Given the description of an element on the screen output the (x, y) to click on. 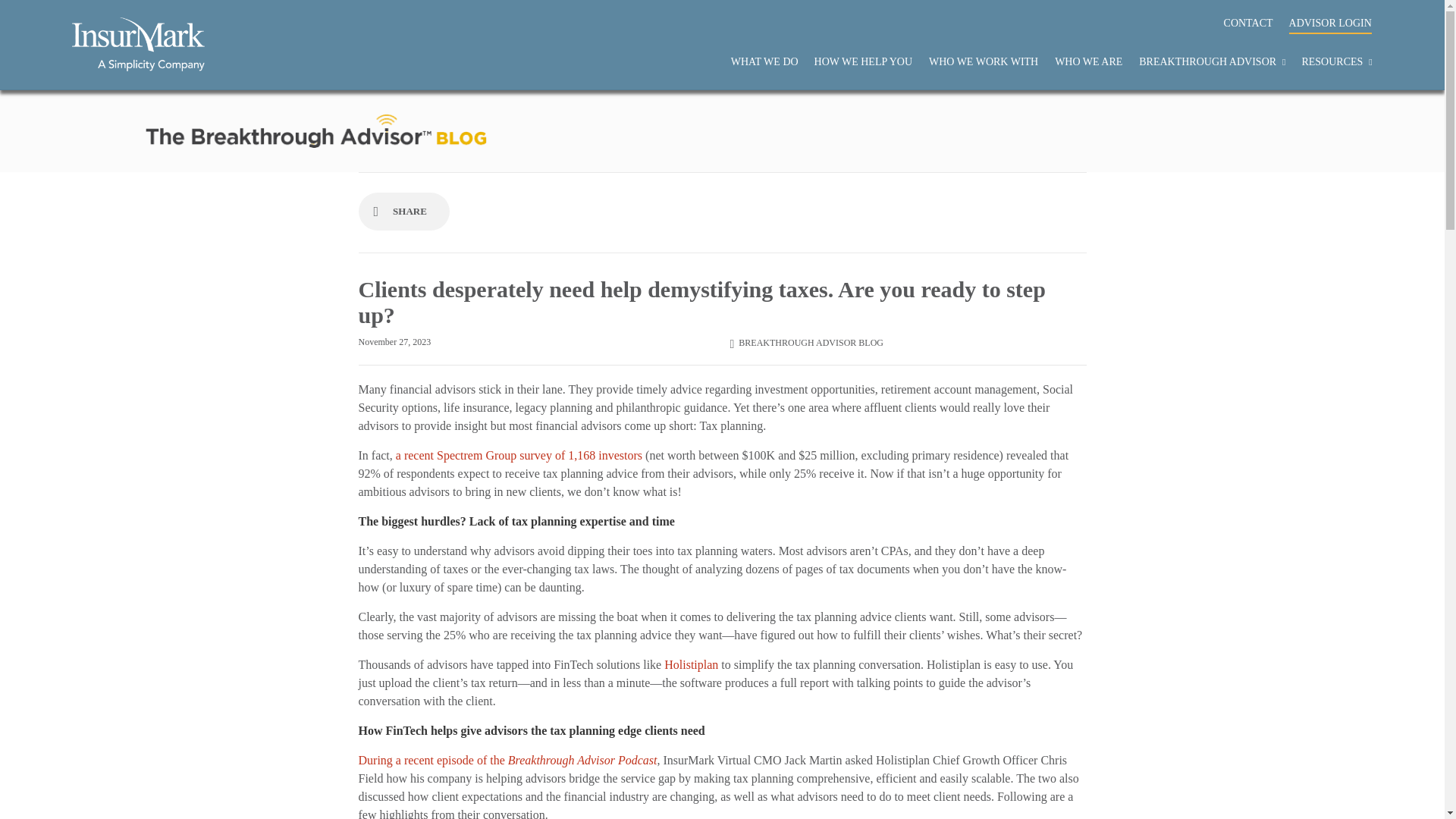
HOW WE HELP YOU (862, 57)
WHO WE ARE (1088, 57)
ADVISOR LOGIN (1329, 19)
WHAT WE DO (763, 57)
WHO WE WORK WITH (983, 57)
RESOURCES (1336, 57)
BREAKTHROUGH ADVISOR (1211, 57)
CONTACT (1248, 19)
Blog Header (315, 130)
